Given the description of an element on the screen output the (x, y) to click on. 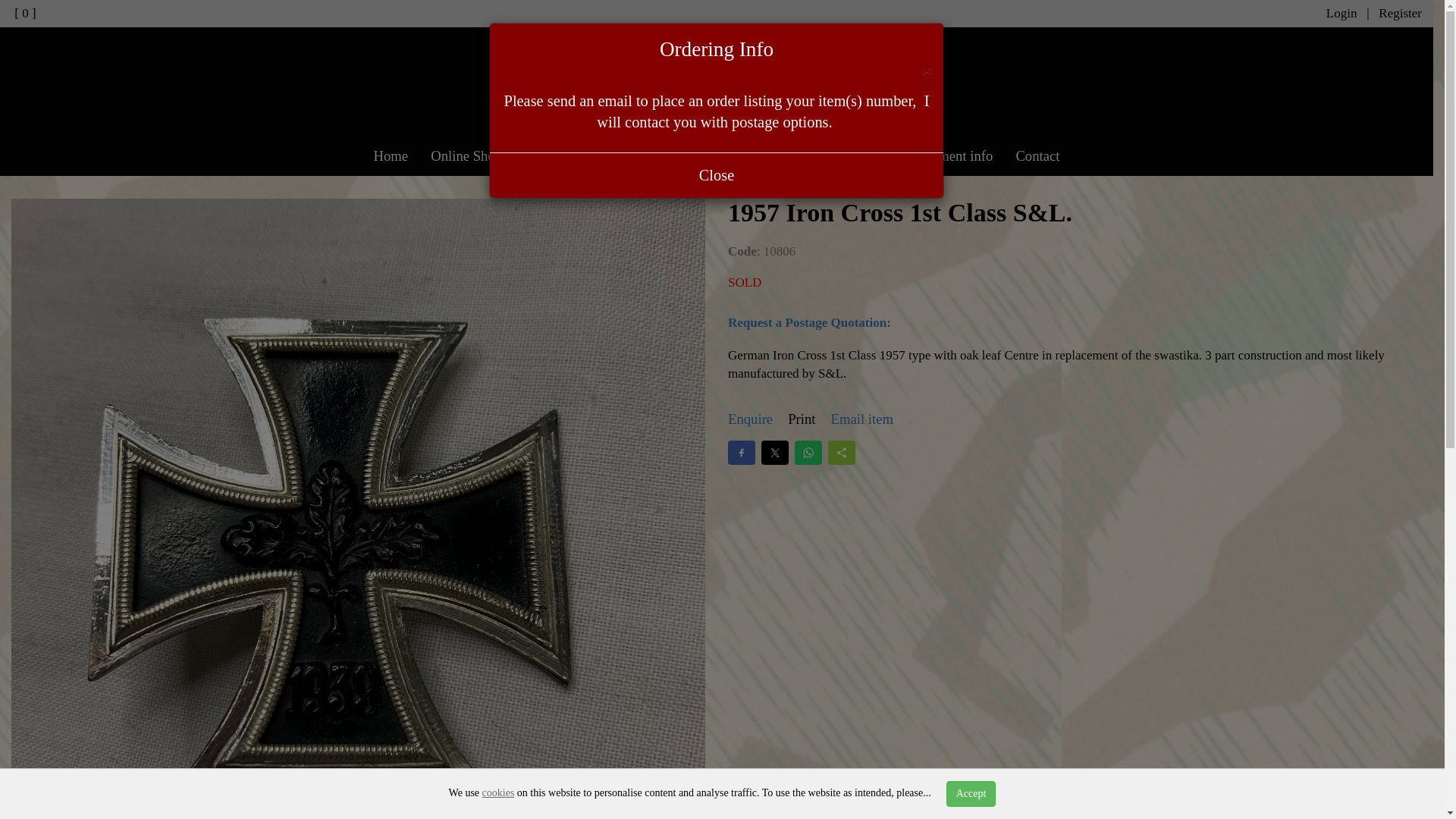
cookies (498, 792)
Payment info (954, 156)
Accept (970, 793)
Contact (1037, 156)
Alan's Militaria (716, 88)
Print (801, 419)
About Us (866, 156)
Home (390, 156)
Email item (862, 419)
Consign With Us (573, 156)
Enquire (750, 419)
Latest items (679, 156)
Online Shop (466, 156)
Recently Sold (776, 156)
